Given the description of an element on the screen output the (x, y) to click on. 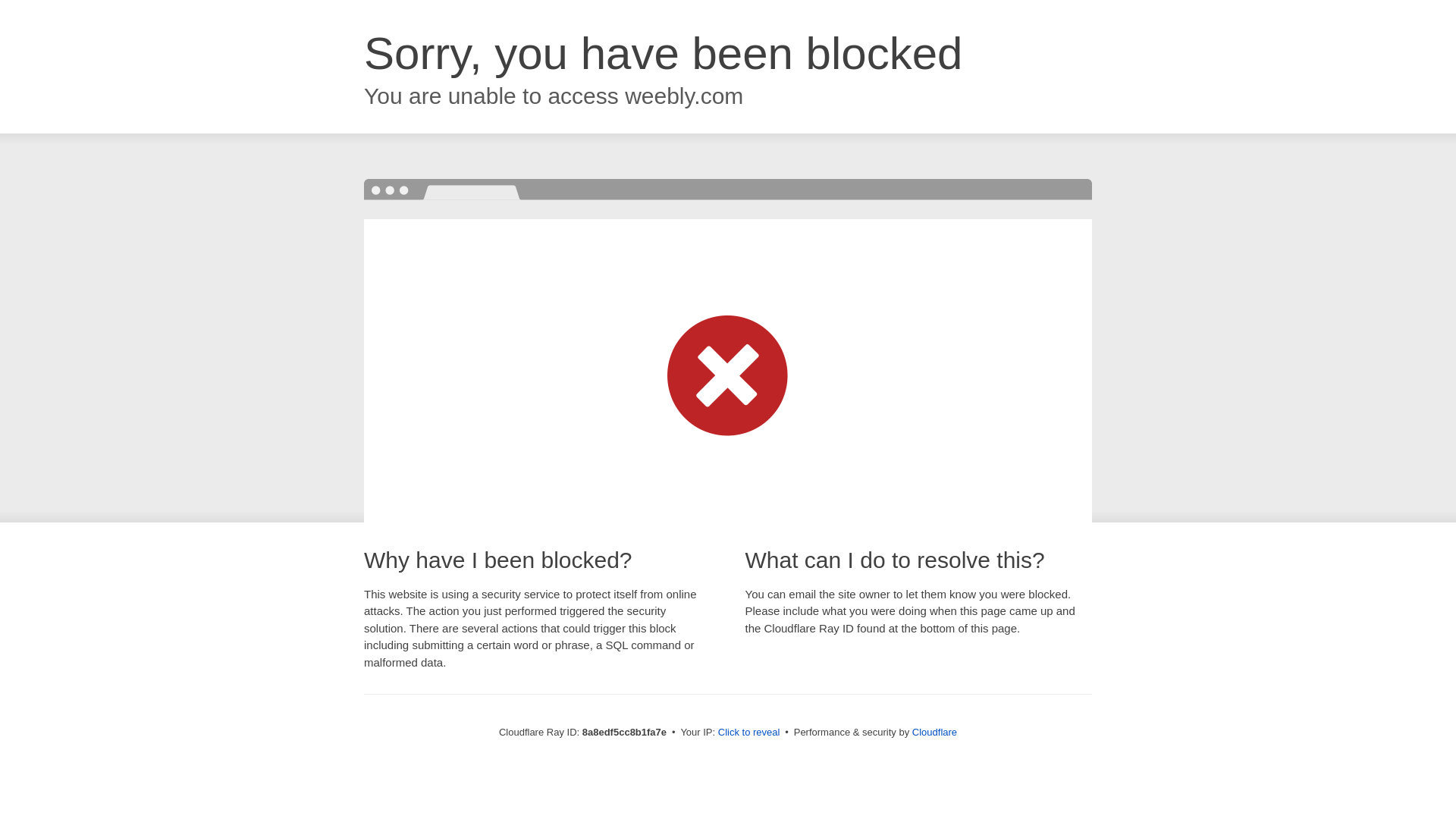
Click to reveal (748, 732)
Cloudflare (934, 731)
